Given the description of an element on the screen output the (x, y) to click on. 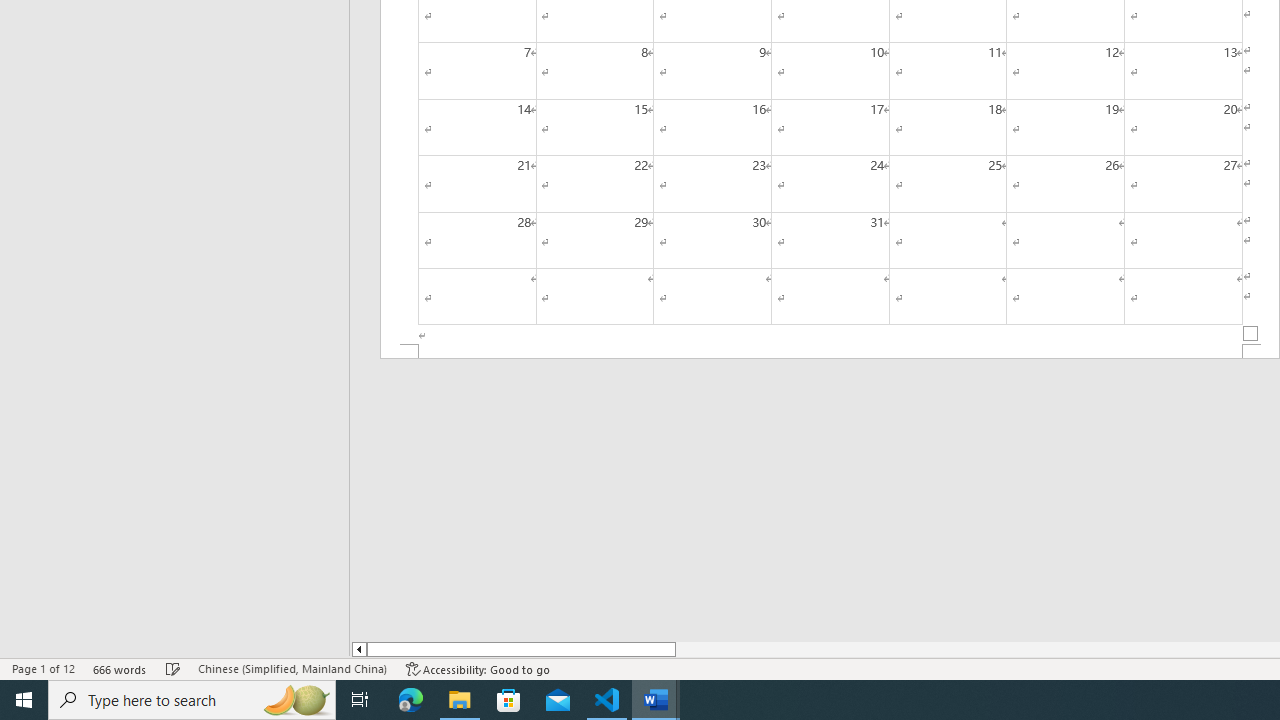
Word Count 666 words (119, 668)
Accessibility Checker Accessibility: Good to go (478, 668)
Language Chinese (Simplified, Mainland China) (292, 668)
Spelling and Grammar Check Checking (173, 668)
Column left (358, 649)
Footer -Section 1- (830, 351)
Page Number Page 1 of 12 (43, 668)
